Given the description of an element on the screen output the (x, y) to click on. 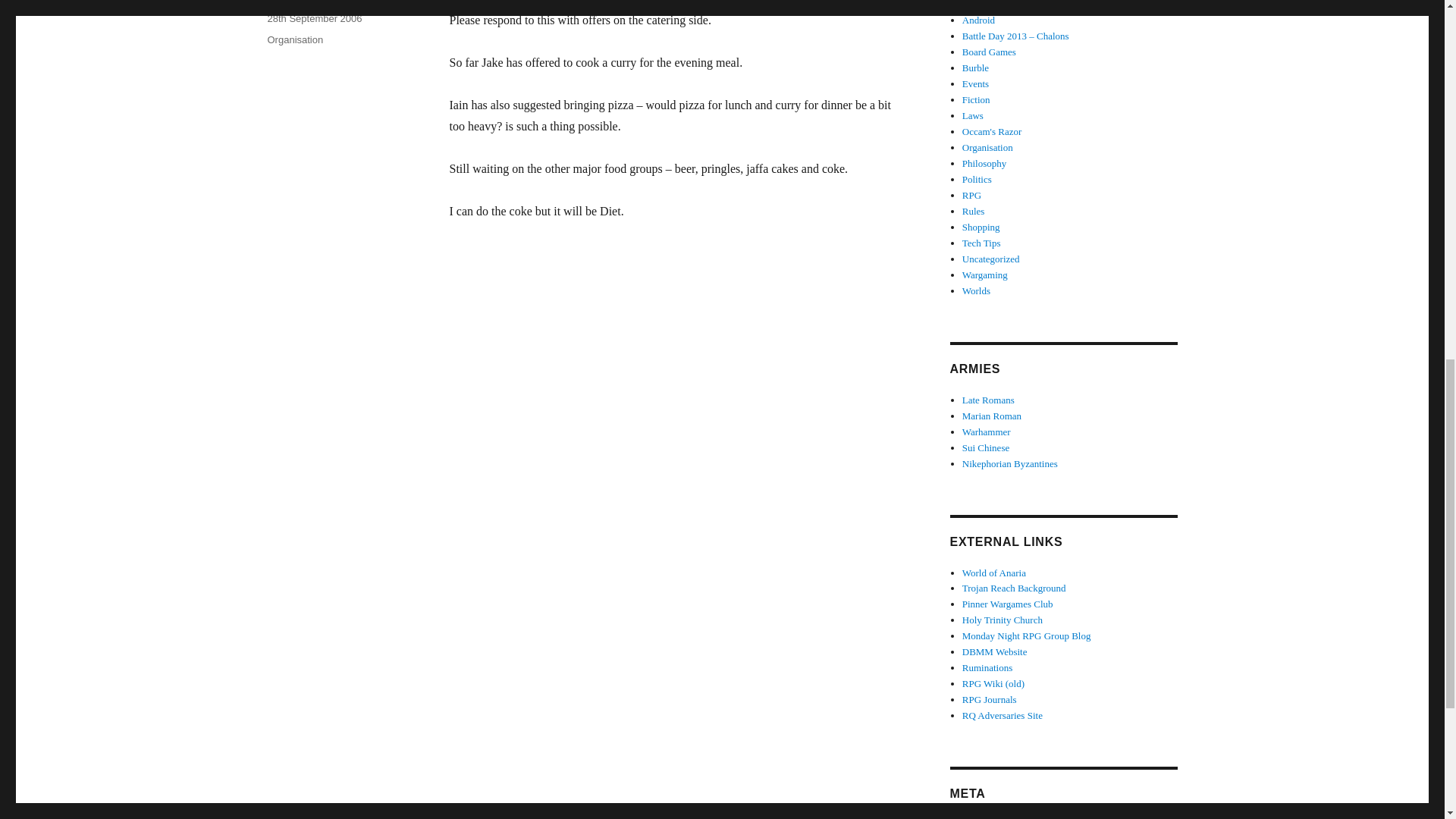
DBMM Website (994, 651)
Organisation (294, 39)
28th September 2006 (313, 18)
RQ Adversaries Site (1002, 715)
Ruminations (986, 667)
Shopping (981, 226)
Tech Tips (981, 242)
Worlds (976, 290)
Philosophy (984, 163)
Occam's Razor (992, 131)
RPG Journals (989, 699)
Organisation (987, 147)
Holy Trinity Church (1002, 619)
Monday Night RPG Group Blog (1026, 635)
Warhammer (986, 431)
